Given the description of an element on the screen output the (x, y) to click on. 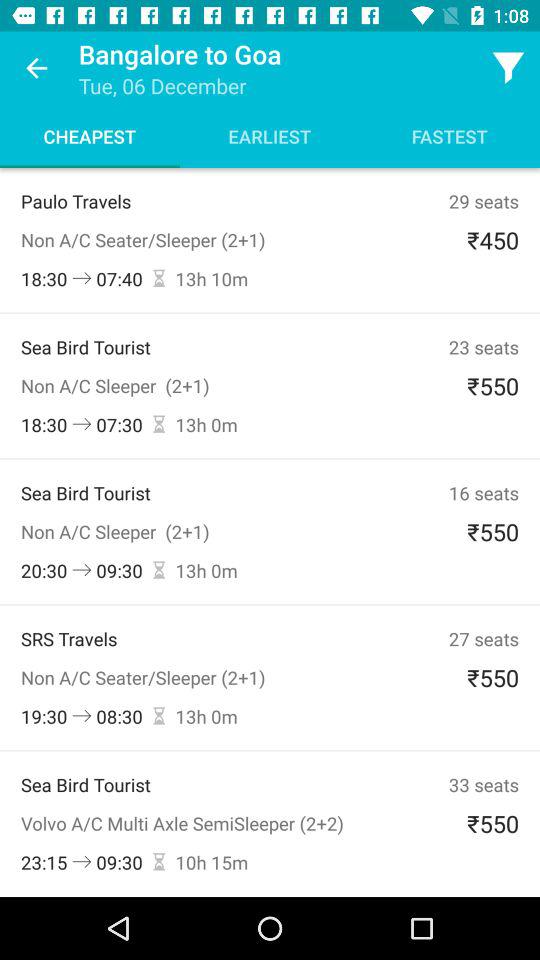
turn on icon next to bangalore to goa item (508, 67)
